Given the description of an element on the screen output the (x, y) to click on. 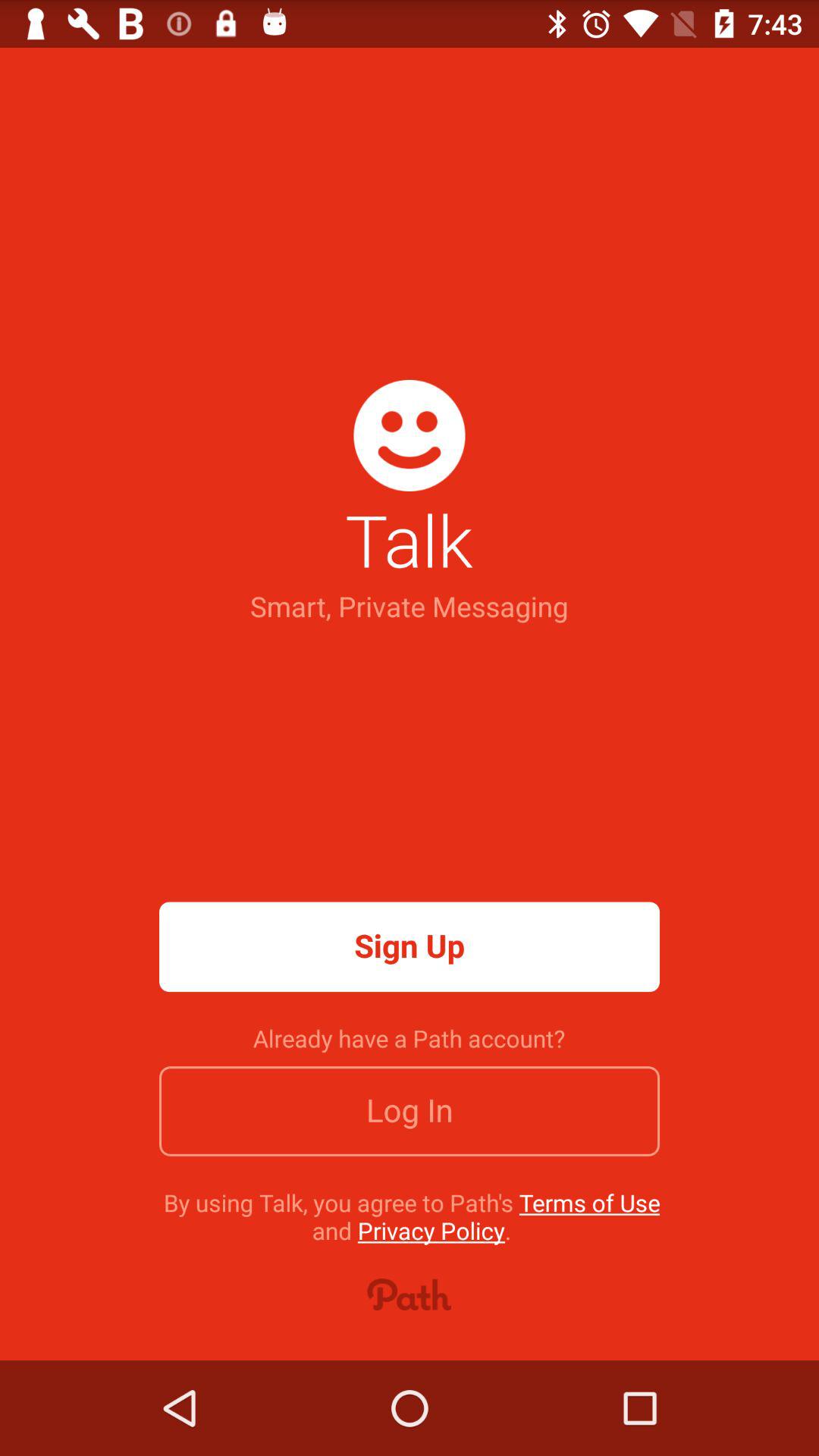
turn off the item below the smart, private messaging icon (409, 946)
